Given the description of an element on the screen output the (x, y) to click on. 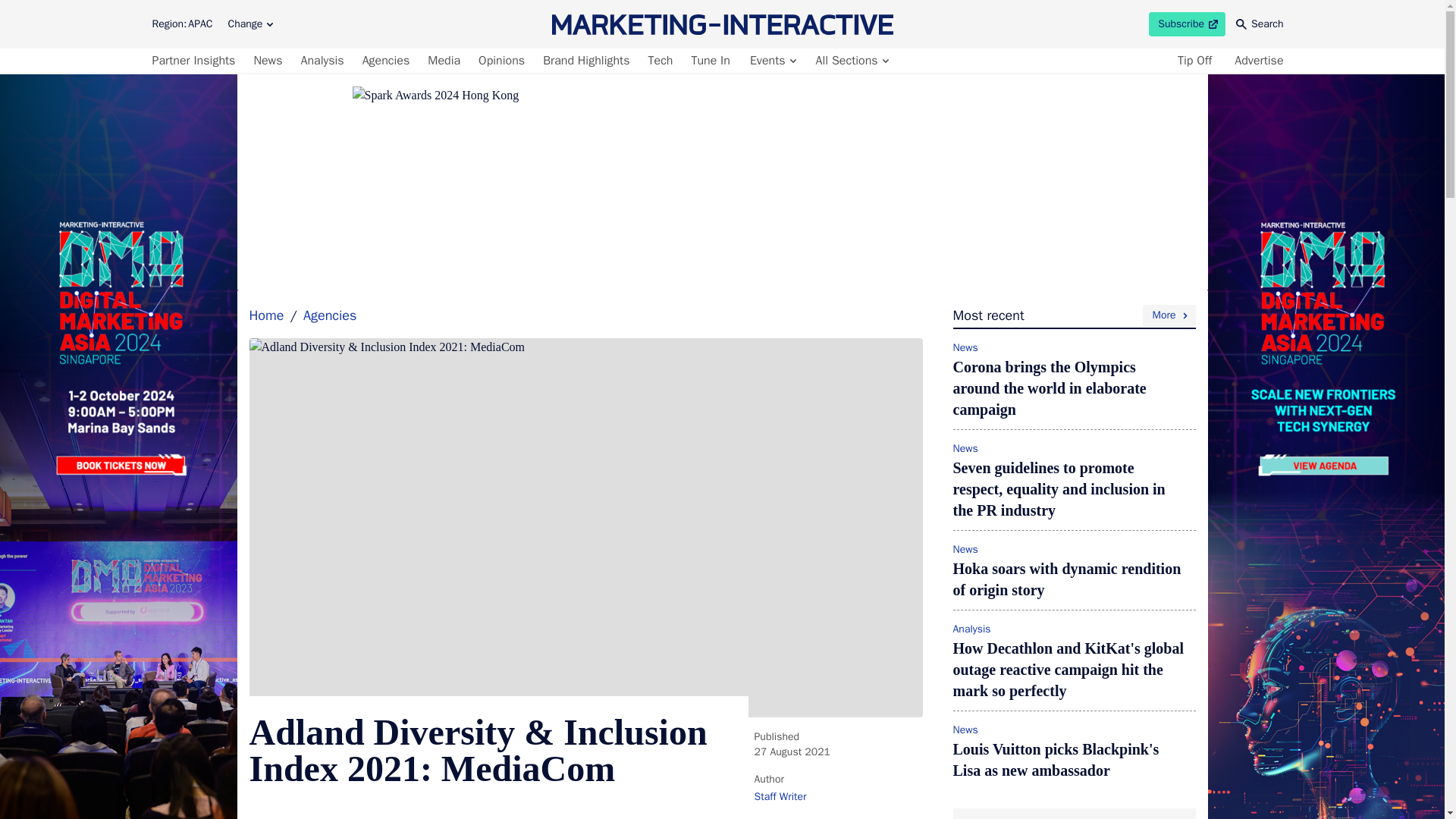
Tune In (709, 60)
All Sections (851, 60)
Tech (660, 60)
Search (1260, 24)
Analysis (321, 60)
Media (443, 60)
Partner Insights (195, 60)
Events (772, 60)
Brand Highlights (585, 60)
Change (1186, 24)
Agencies (250, 24)
Opinions (386, 60)
News (501, 60)
